Given the description of an element on the screen output the (x, y) to click on. 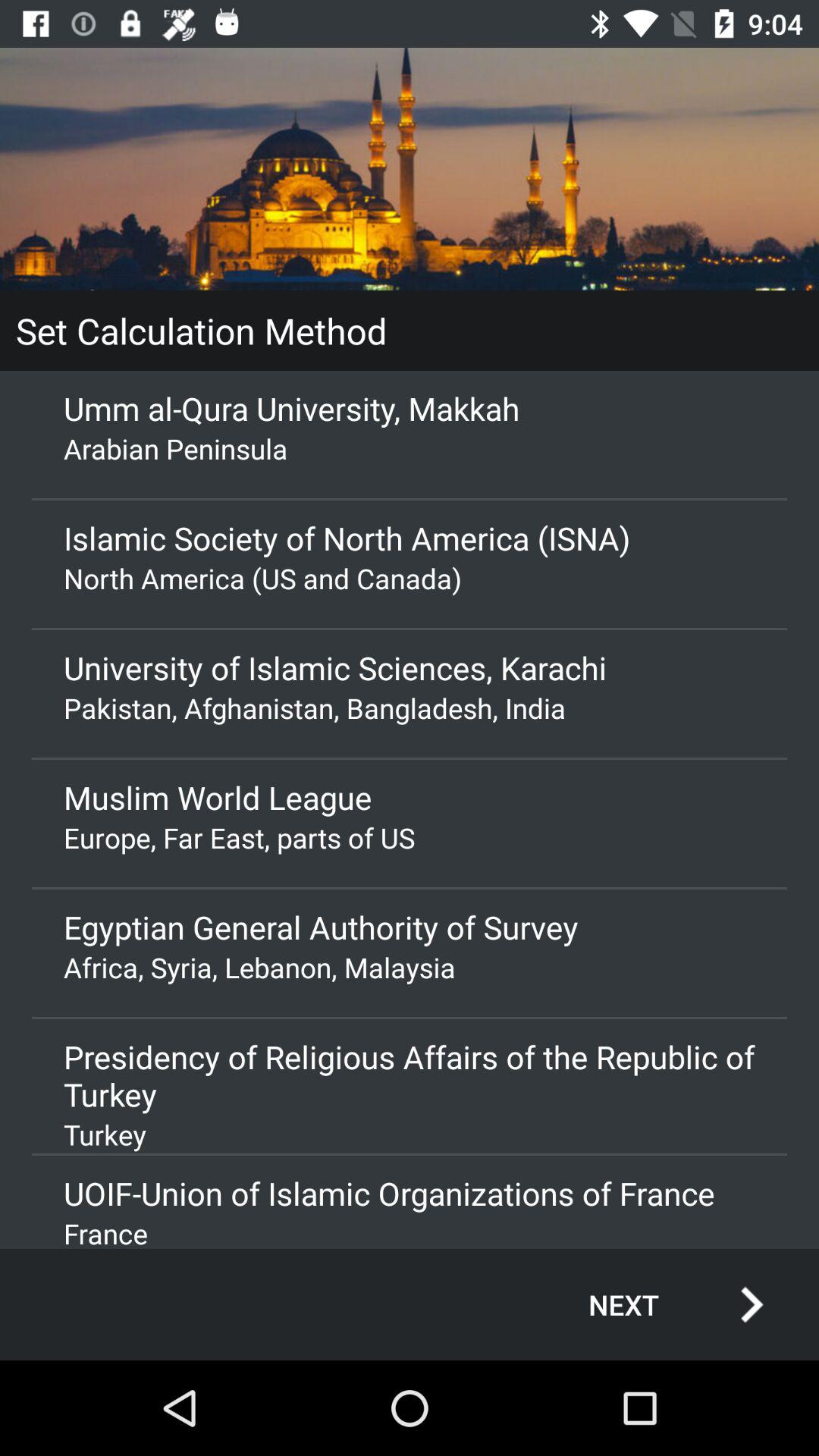
swipe until the umm al qura icon (409, 407)
